Given the description of an element on the screen output the (x, y) to click on. 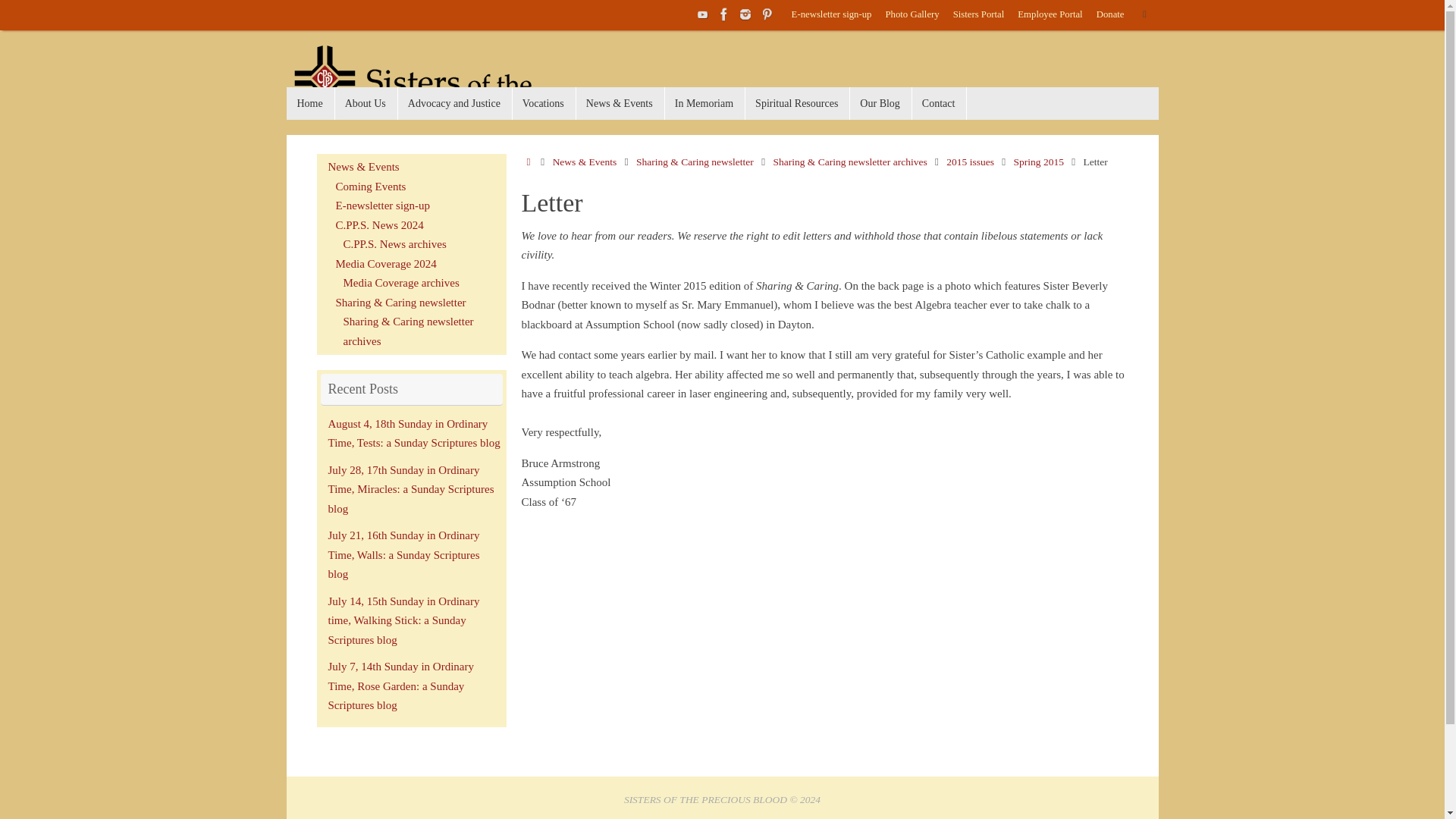
Coming Events (370, 186)
Pinterest (766, 14)
Donate (1109, 15)
Home (310, 102)
Sisters Portal (978, 15)
C.PP.S. News 2024 (378, 224)
Our Blog (879, 102)
Advocacy and Justice (454, 102)
Instagram (745, 14)
In Memoriam (703, 102)
Media Coverage archives (400, 282)
Sisters of the Precious Blood (442, 90)
Employee Portal (1049, 15)
